Given the description of an element on the screen output the (x, y) to click on. 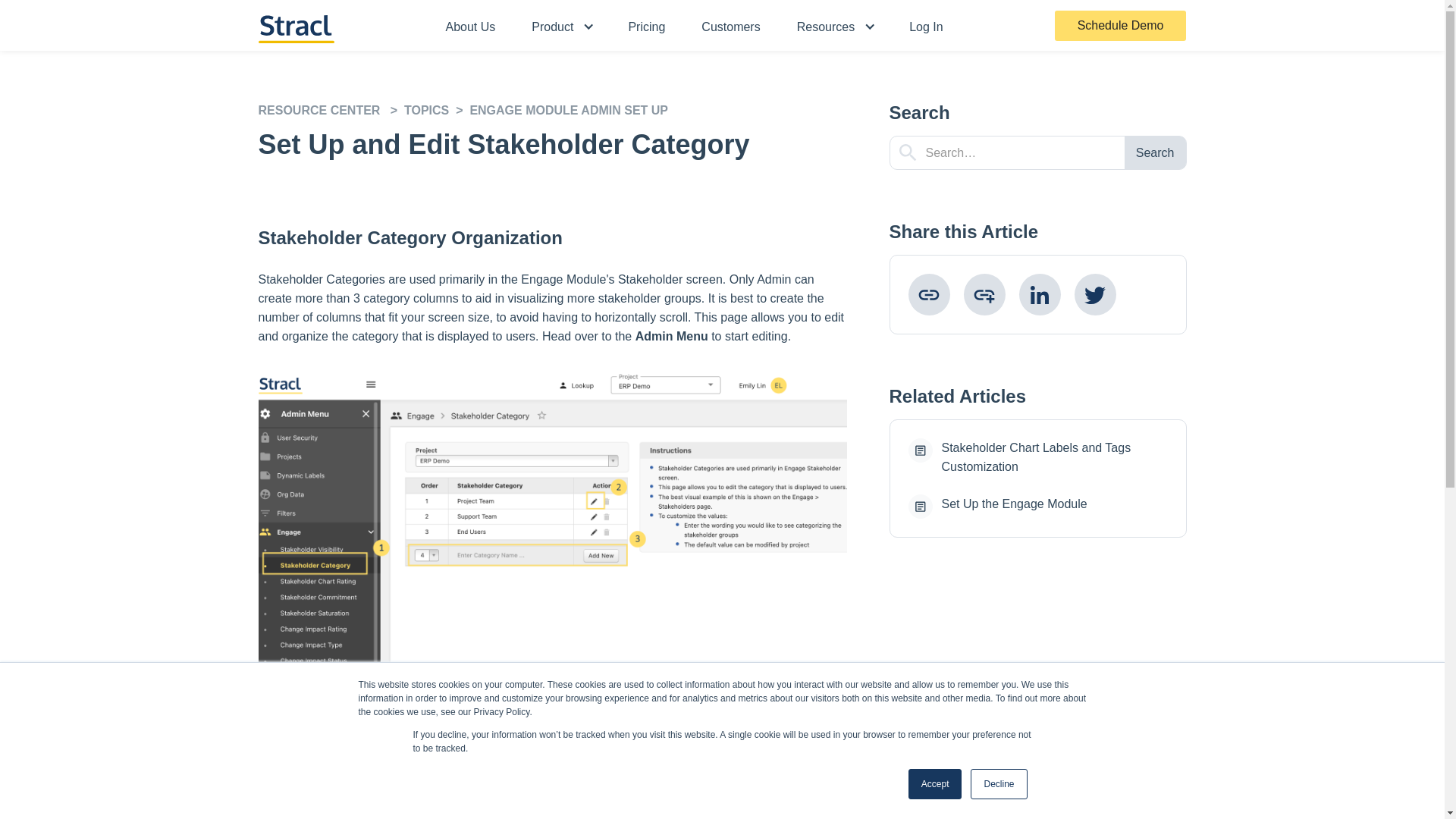
Schedule Demo (1120, 25)
Copy title and link (983, 294)
Search (1155, 152)
Set Up the Engage Module (1037, 506)
Accept (935, 784)
Log In (925, 24)
ENGAGE MODULE ADMIN SET UP (568, 110)
Search (1155, 152)
Copy link (929, 294)
Pricing (646, 24)
Stakeholder Chart Labels and Tags Customization (1037, 456)
Customers (730, 24)
Search (1155, 152)
Decline (998, 784)
About Us (469, 24)
